Given the description of an element on the screen output the (x, y) to click on. 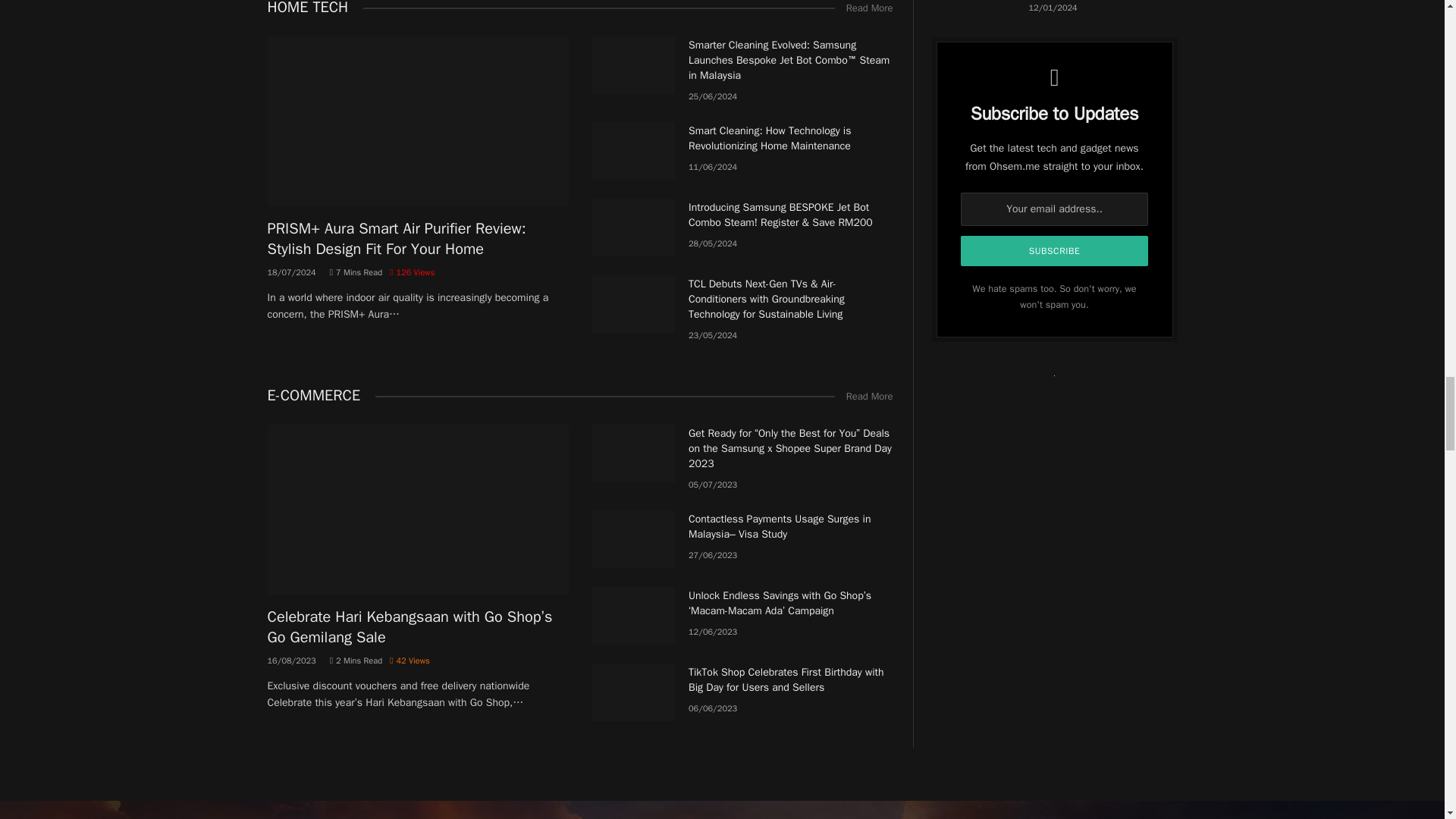
Subscribe (1053, 250)
